Given the description of an element on the screen output the (x, y) to click on. 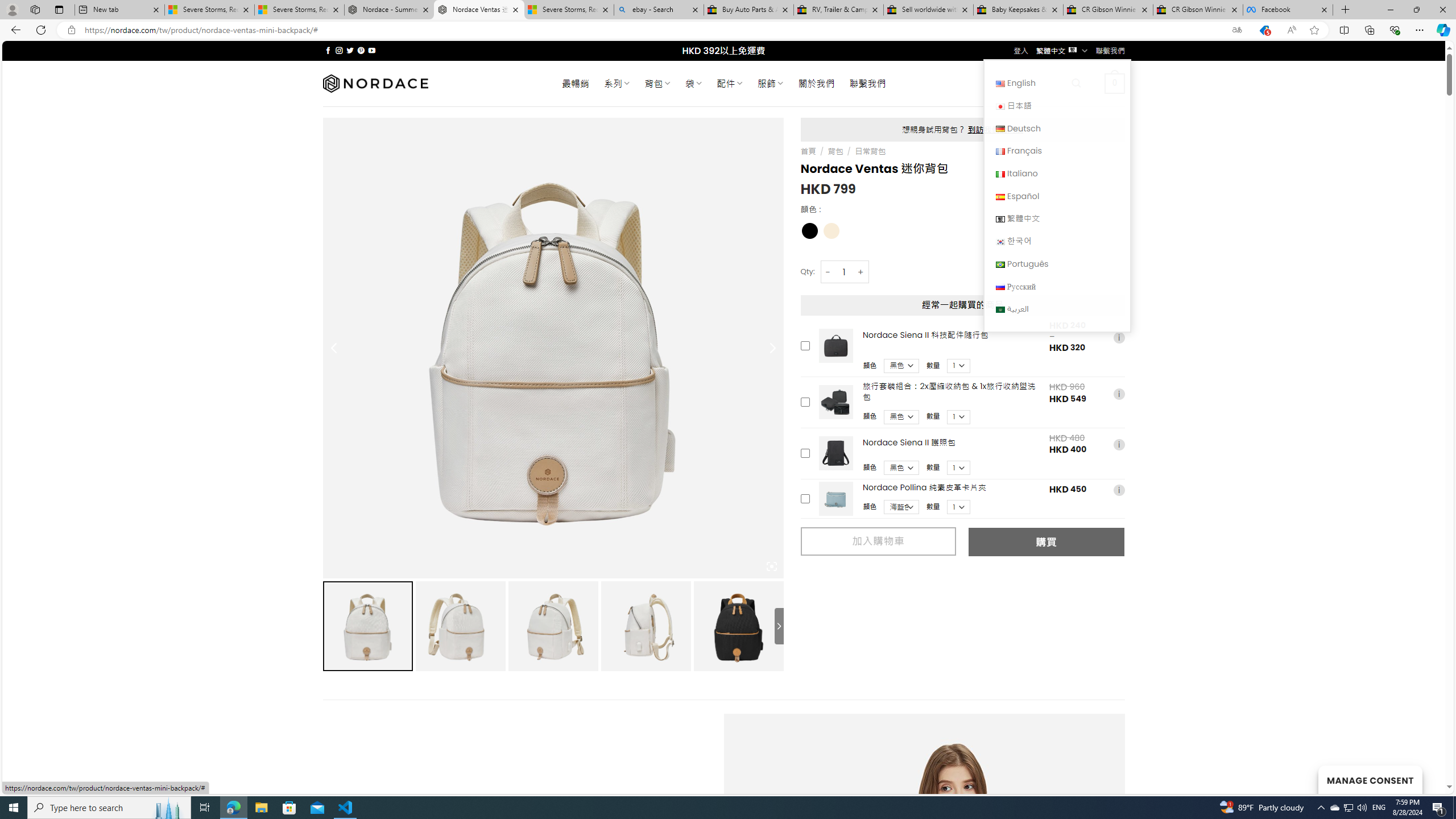
Follow on YouTube (371, 50)
